Given the description of an element on the screen output the (x, y) to click on. 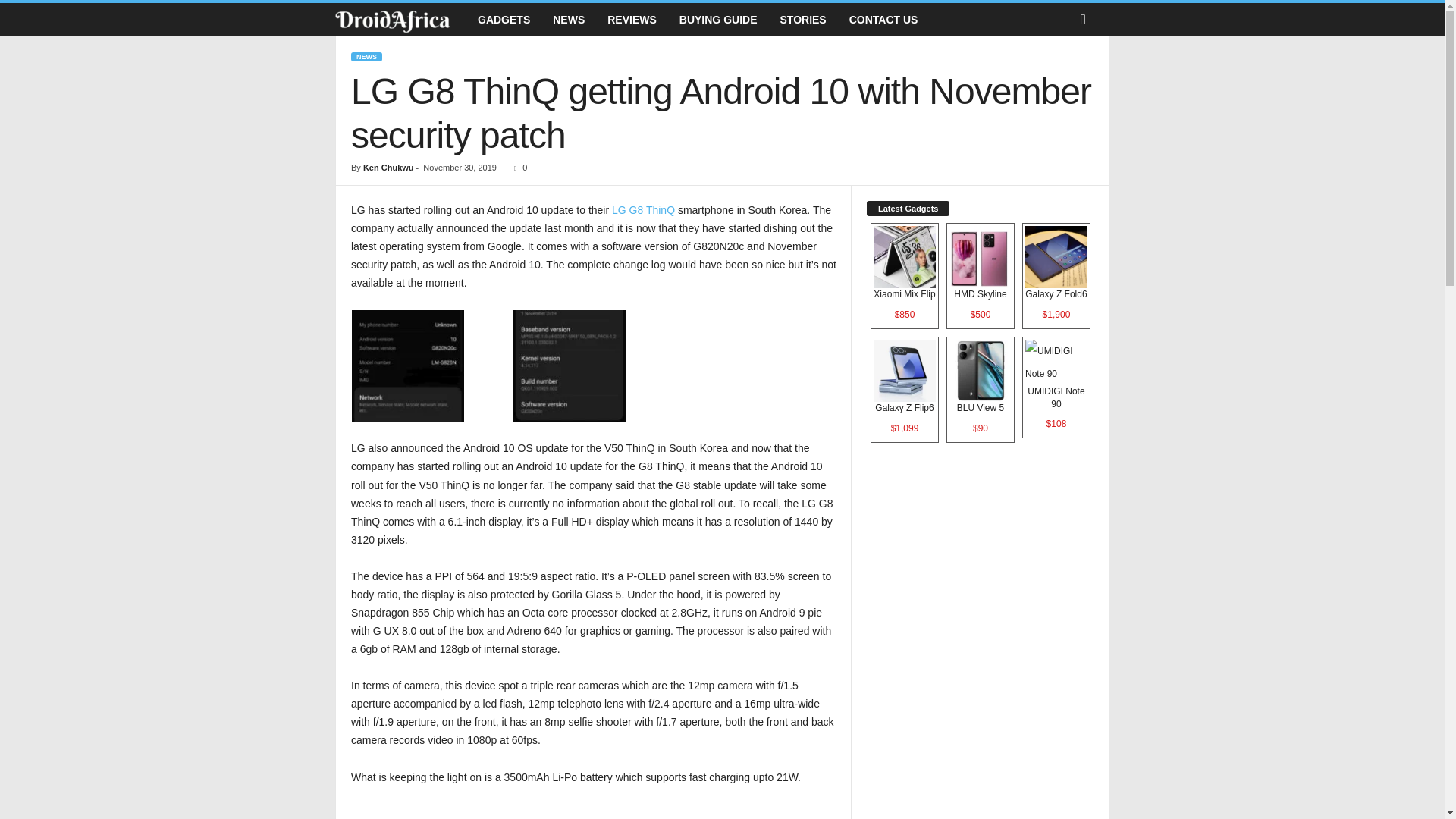
CONTACT US (884, 19)
NEWS (568, 19)
0 (517, 166)
GADGETS (503, 19)
NEWS (365, 56)
BUYING GUIDE (718, 19)
Ken Chukwu (387, 166)
Tech News, Specs, Unboxing and Reviews (391, 19)
STORIES (803, 19)
REVIEWS (631, 19)
LG G8 ThinQ (643, 209)
DroidAfrica (399, 19)
